Given the description of an element on the screen output the (x, y) to click on. 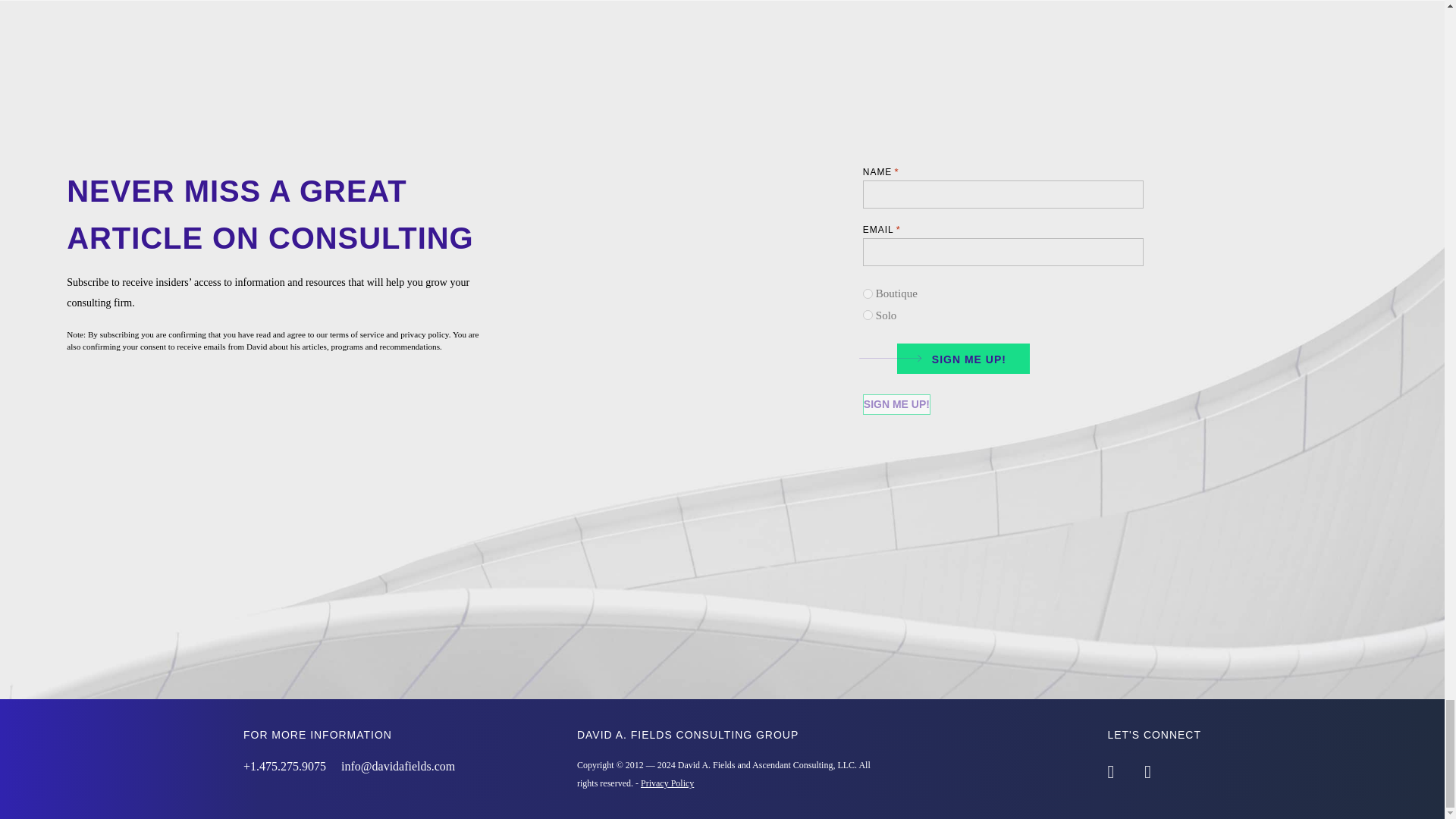
Sign Me Up! (896, 403)
Boutique (867, 293)
SIGN ME UP! (957, 357)
Solo (867, 315)
Privacy Policy (667, 783)
Sign Me Up! (896, 403)
DAVID A. FIELDS CONSULTING GROUP (686, 734)
